Given the description of an element on the screen output the (x, y) to click on. 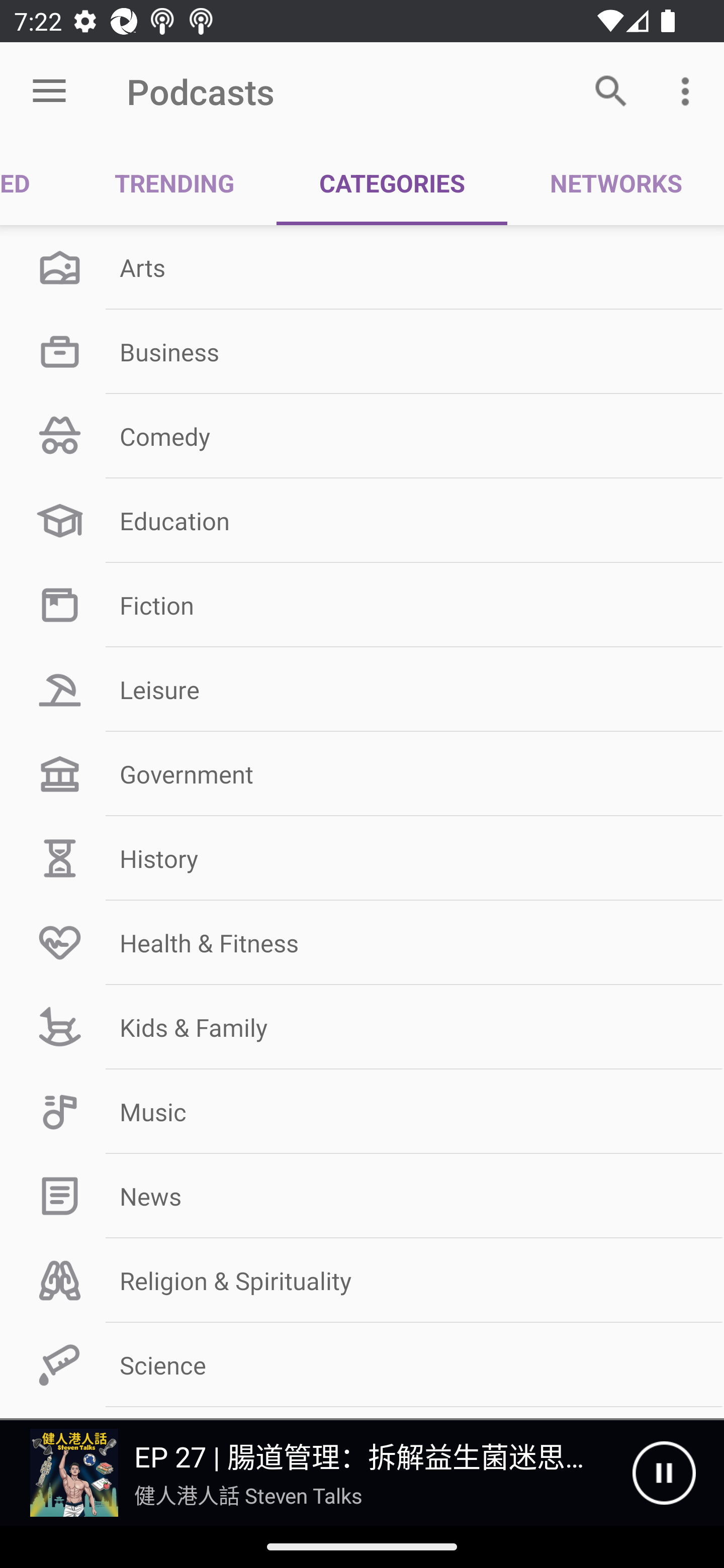
Open menu (49, 91)
Search (611, 90)
More options (688, 90)
TRENDING (174, 183)
CATEGORIES (391, 183)
NETWORKS (615, 183)
Arts (362, 266)
Business (362, 350)
Comedy (362, 435)
Education (362, 520)
Fiction (362, 604)
Leisure (362, 689)
Government (362, 774)
History (362, 858)
Health & Fitness (362, 942)
Kids & Family (362, 1026)
Music (362, 1111)
News (362, 1196)
Religion & Spirituality (362, 1280)
Science (362, 1364)
Pause (663, 1472)
